Given the description of an element on the screen output the (x, y) to click on. 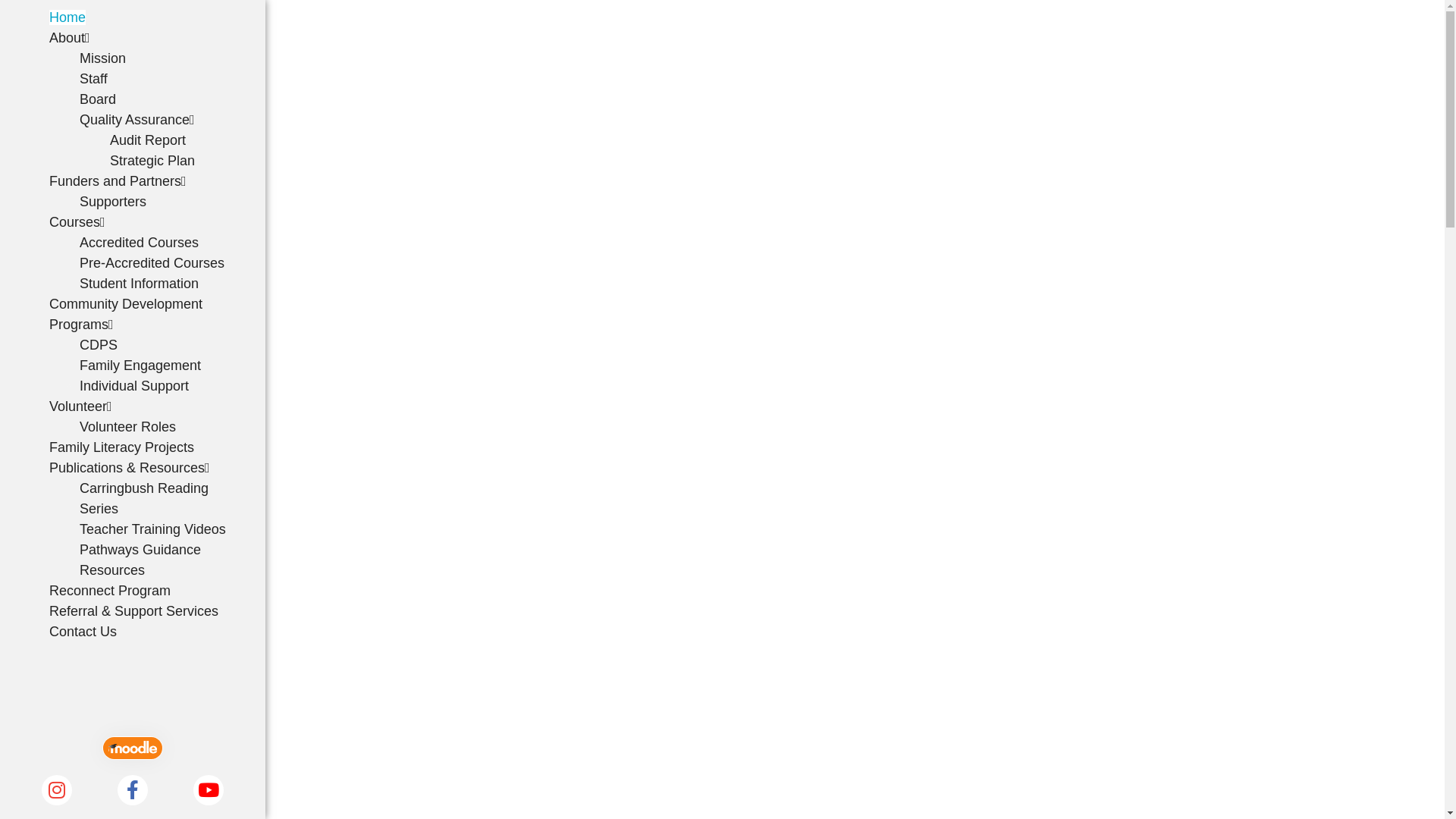
Reconnect Program Element type: text (109, 590)
Mission Element type: text (102, 57)
Strategic Plan Element type: text (151, 160)
Staff Element type: text (93, 78)
Audit Report Element type: text (147, 139)
Teacher Training Videos Element type: text (152, 528)
Family Engagement Element type: text (139, 365)
Accredited Courses Element type: text (138, 242)
About Element type: text (69, 37)
Referral & Support Services Element type: text (133, 610)
Board Element type: text (97, 98)
Funders and Partners Element type: text (117, 180)
Courses Element type: text (77, 221)
Community Development Programs Element type: text (125, 314)
Pathways Guidance Resources Element type: text (139, 559)
CDPS Element type: text (98, 344)
Carringbush Reading Series Element type: text (143, 498)
Family Literacy Projects Element type: text (121, 447)
Individual Support Element type: text (133, 385)
Quality Assurance Element type: text (136, 119)
Volunteer Element type: text (80, 406)
Contact Us Element type: text (82, 631)
Supporters Element type: text (112, 201)
Publications & Resources Element type: text (129, 467)
Home Element type: text (67, 17)
Volunteer Roles Element type: text (127, 426)
Student Information Element type: text (138, 283)
Pre-Accredited Courses Element type: text (151, 262)
